Given the description of an element on the screen output the (x, y) to click on. 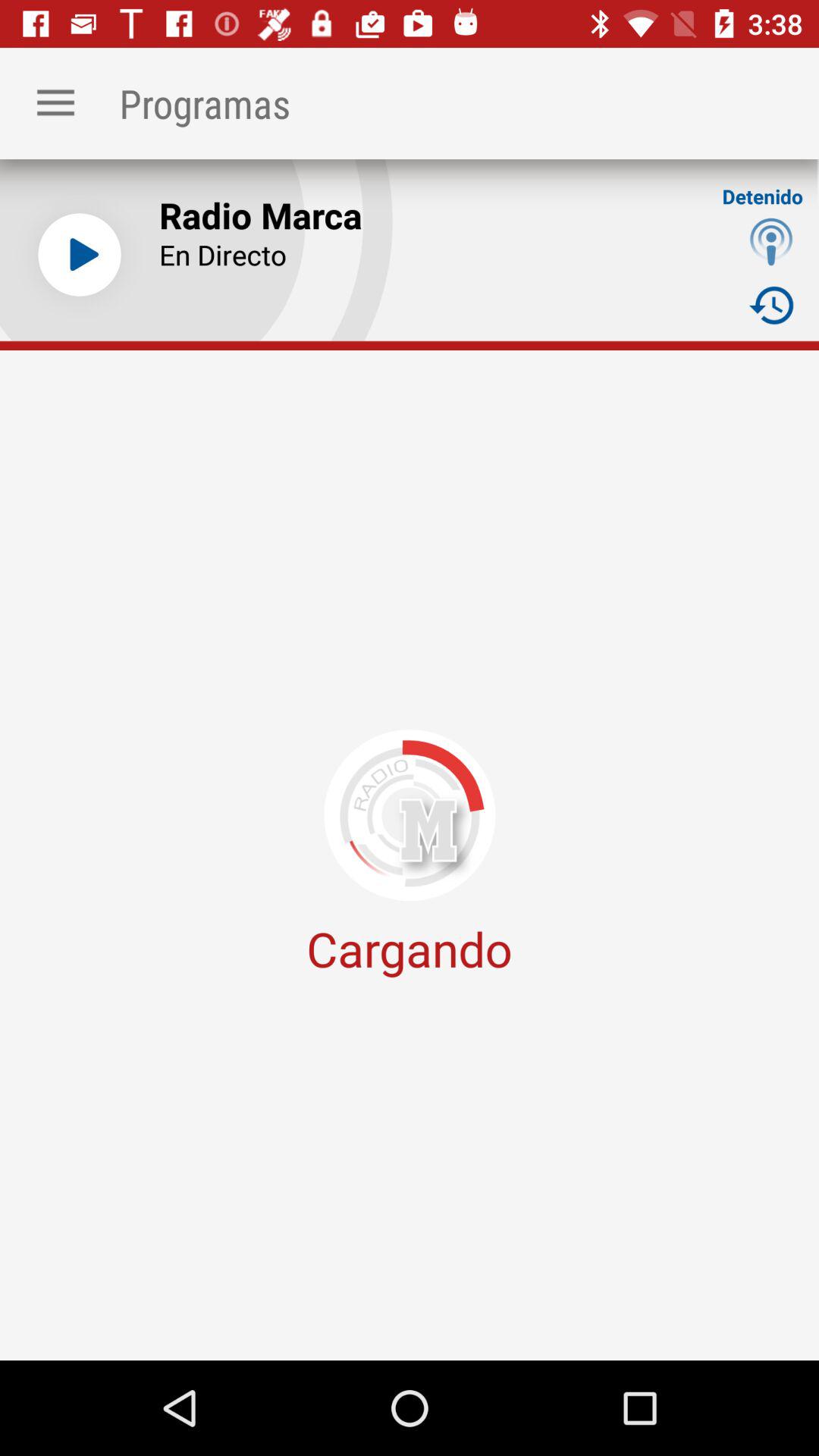
open the icon to the left of the radio marca item (79, 254)
